Given the description of an element on the screen output the (x, y) to click on. 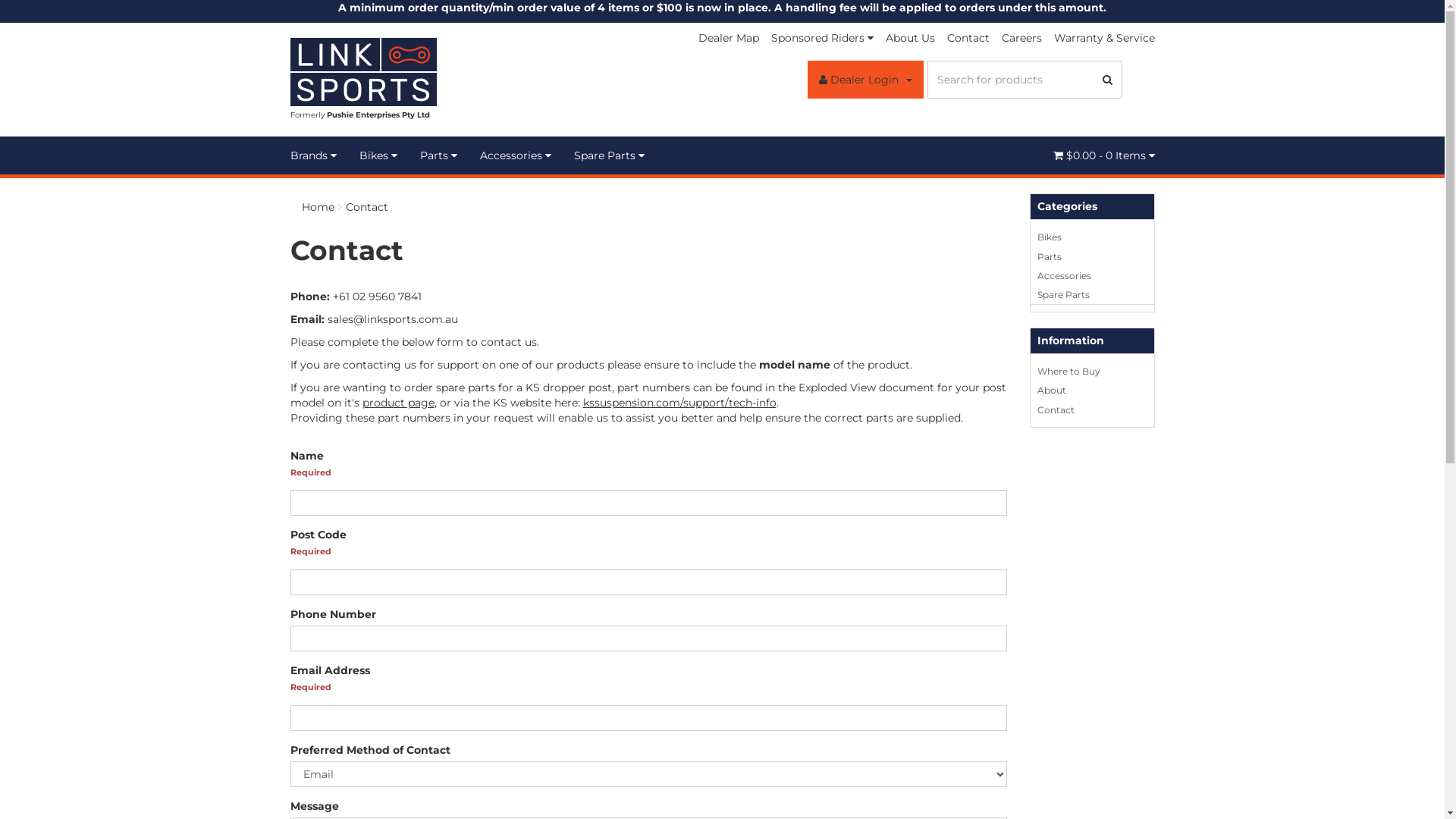
Search Element type: text (1107, 79)
Brands Element type: text (318, 155)
Accessories Element type: text (515, 155)
Home Element type: text (317, 206)
$0.00 - 0 Items Element type: text (1103, 155)
Dealer Login  Element type: text (864, 79)
Where to Buy Element type: text (1091, 370)
Spare Parts Element type: text (1091, 294)
Warranty & Service Element type: text (1101, 37)
Contact Element type: text (366, 206)
Parts Element type: text (1091, 256)
Bikes Element type: text (1091, 237)
Parts Element type: text (437, 155)
kssuspension.com/support/tech-info Element type: text (678, 402)
Sponsored Riders Element type: text (821, 37)
Careers Element type: text (1020, 37)
Dealer Map Element type: text (727, 37)
About Us Element type: text (910, 37)
Spare Parts Element type: text (608, 155)
Bikes Element type: text (377, 155)
Link Sports Pty Ltd Element type: hover (362, 71)
Accessories Element type: text (1091, 275)
Contact Element type: text (967, 37)
Contact Element type: text (1091, 409)
product page Element type: text (398, 402)
About Element type: text (1091, 389)
sales@linksports.com.au Element type: text (392, 319)
